Given the description of an element on the screen output the (x, y) to click on. 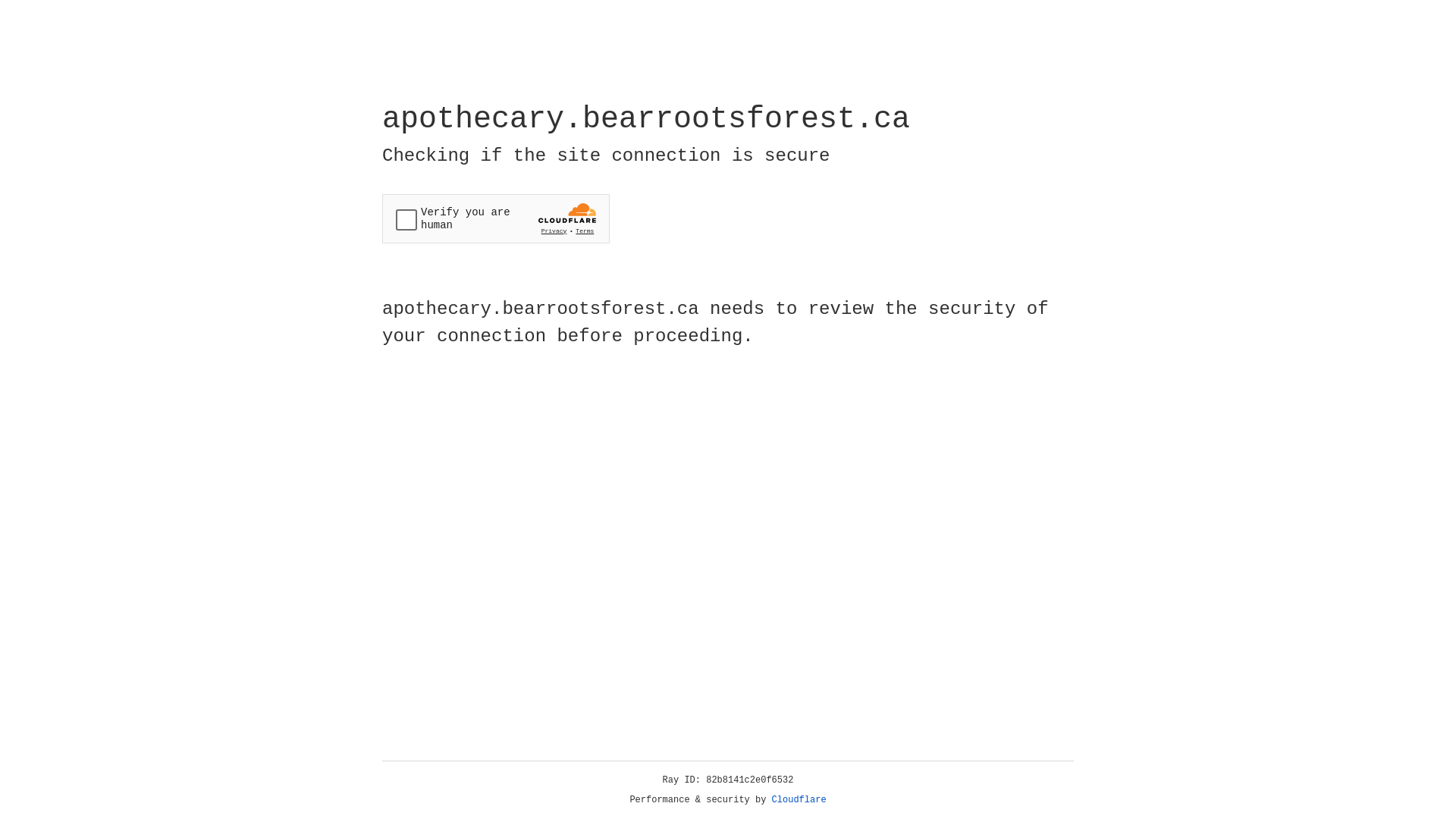
Widget containing a Cloudflare security challenge Element type: hover (495, 218)
Cloudflare Element type: text (798, 799)
